Given the description of an element on the screen output the (x, y) to click on. 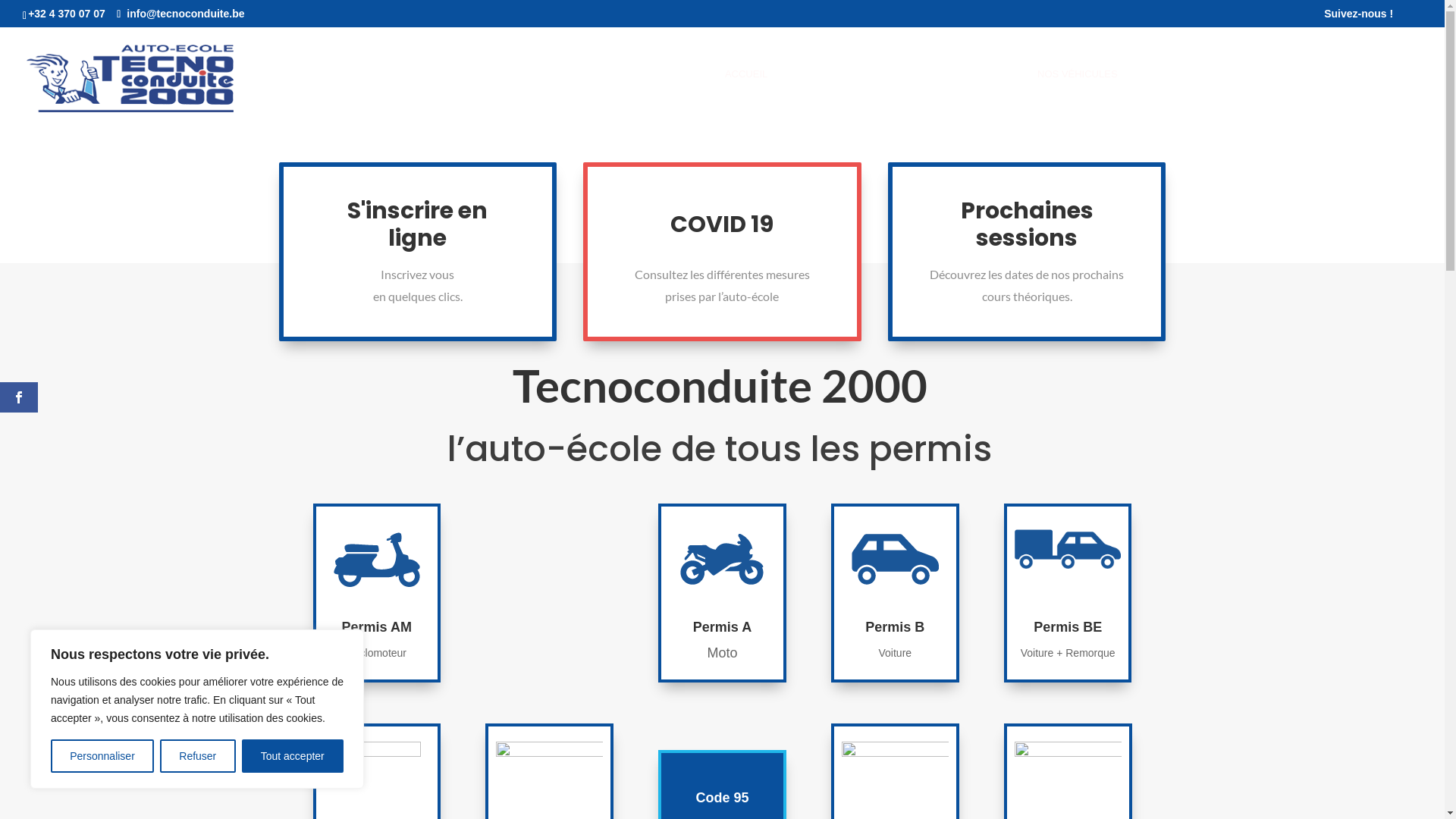
CODE 95 POIDS LOURDS Element type: text (957, 95)
Personnaliser Element type: text (101, 755)
Suivez-nous ! Element type: text (1358, 16)
Tout accepter Element type: text (292, 755)
CONTACT Element type: text (1396, 95)
NOS BUREAUX Element type: text (1174, 95)
NOS SERVICES Element type: text (831, 95)
TARIFS Element type: text (1247, 95)
Refuser Element type: text (197, 755)
ACCUEIL Element type: text (745, 95)
MON COMPTE Element type: text (1319, 95)
info@tecnoconduite.be Element type: text (180, 13)
+32 4 370 07 07 Element type: text (66, 13)
